Given the description of an element on the screen output the (x, y) to click on. 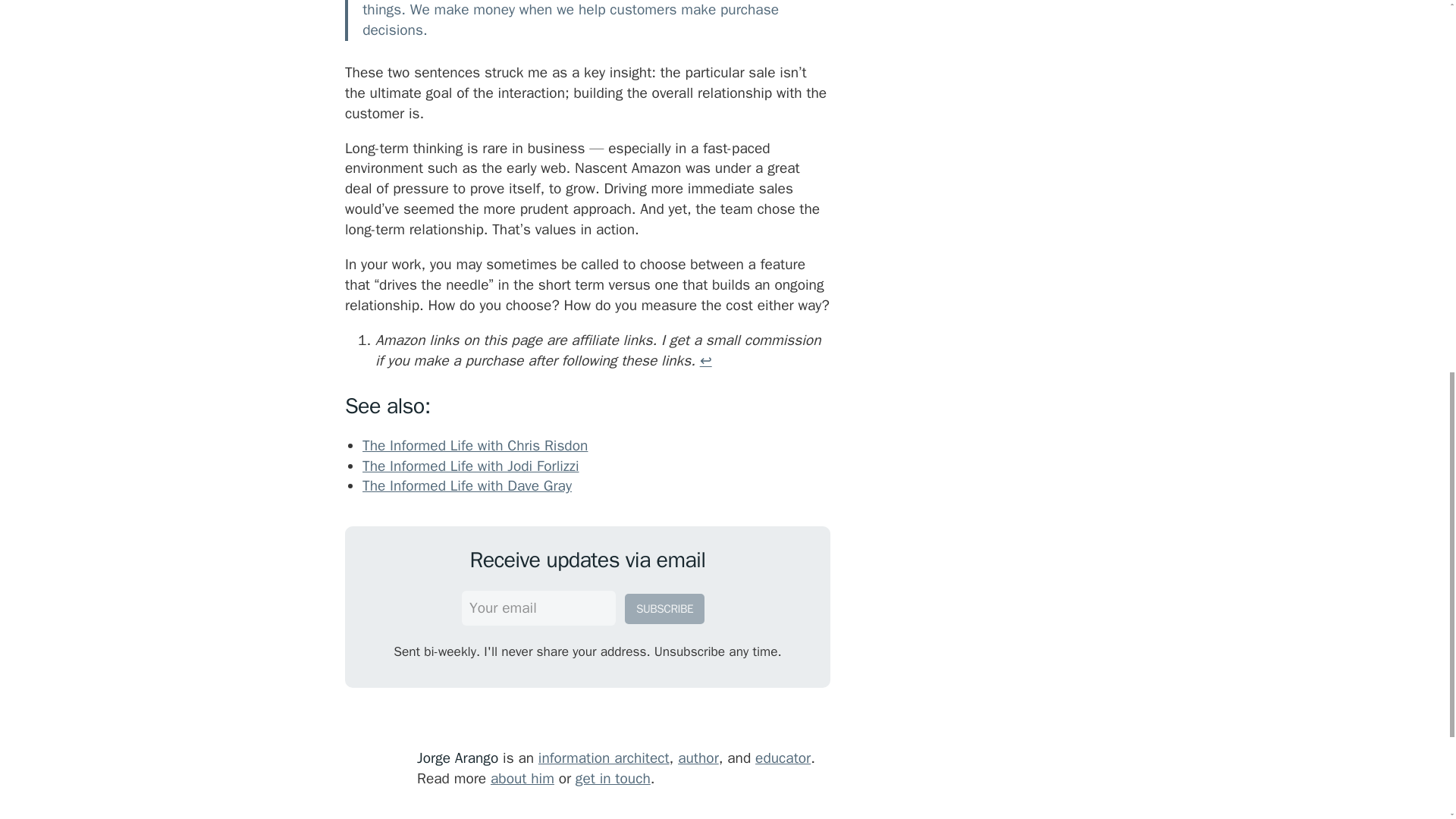
The Informed Life with Jodi Forlizzi (470, 466)
information architect (603, 758)
Subscribe (664, 608)
Subscribe (664, 608)
The Informed Life with Chris Risdon (475, 445)
get in touch (612, 778)
educator (782, 758)
about him (522, 778)
Your email (538, 607)
The Informed Life with Dave Gray (467, 485)
